Given the description of an element on the screen output the (x, y) to click on. 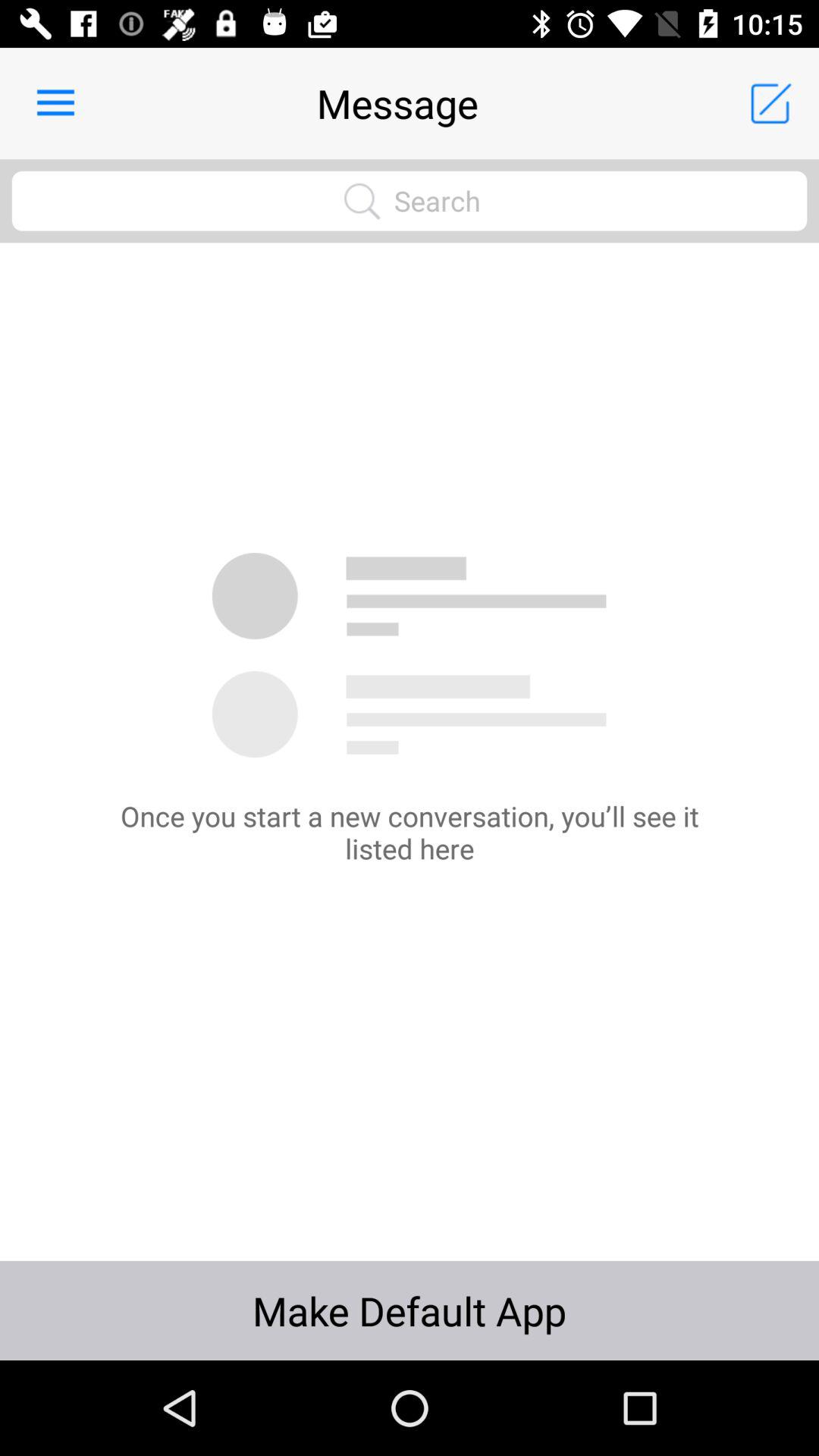
turn on the app to the left of the message app (55, 103)
